Given the description of an element on the screen output the (x, y) to click on. 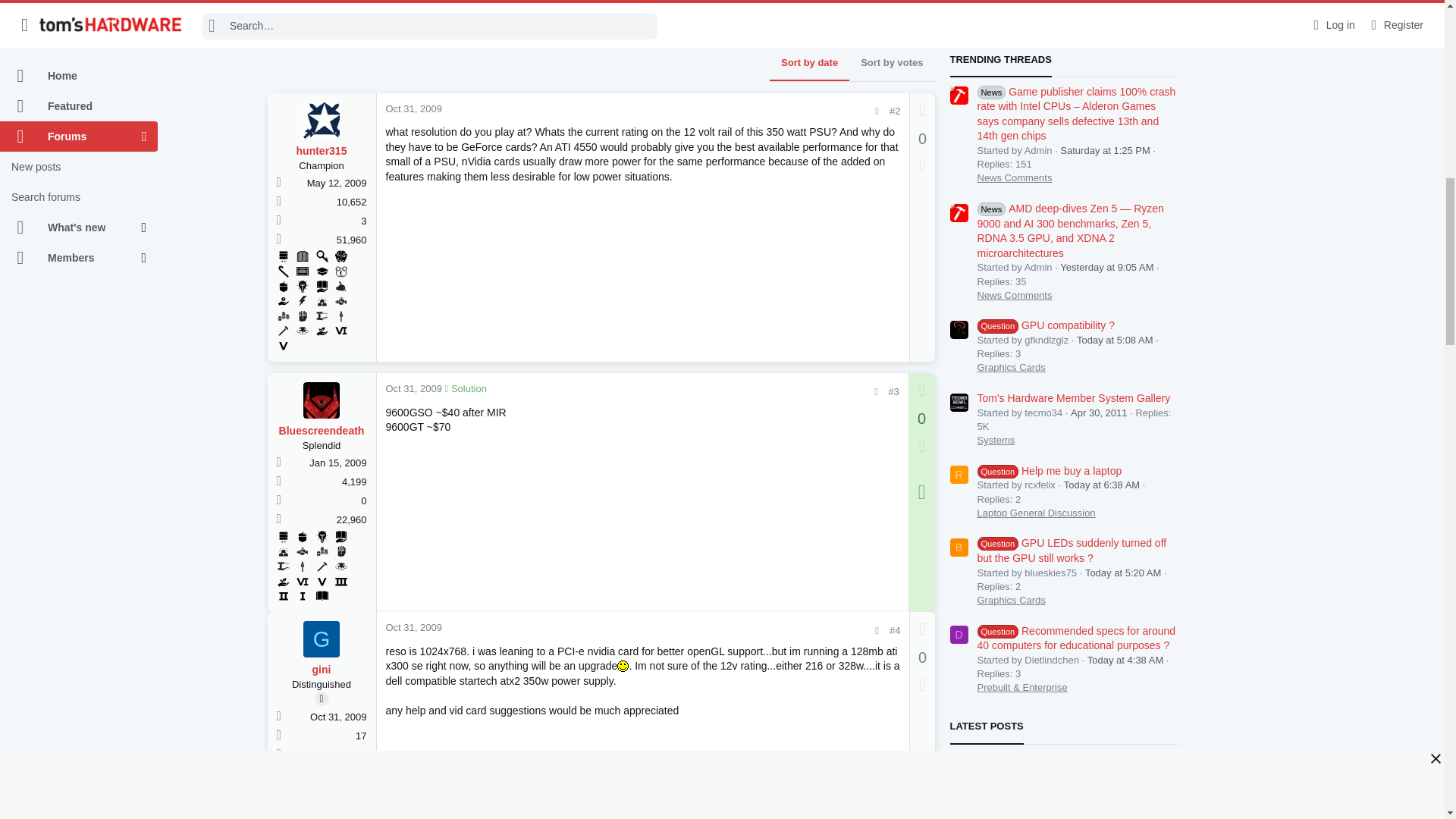
Oct 31, 2009 at 11:10 PM (413, 388)
Oct 31, 2009 at 11:16 PM (413, 627)
Oct 31, 2009 at 11:06 PM (413, 108)
